Given the description of an element on the screen output the (x, y) to click on. 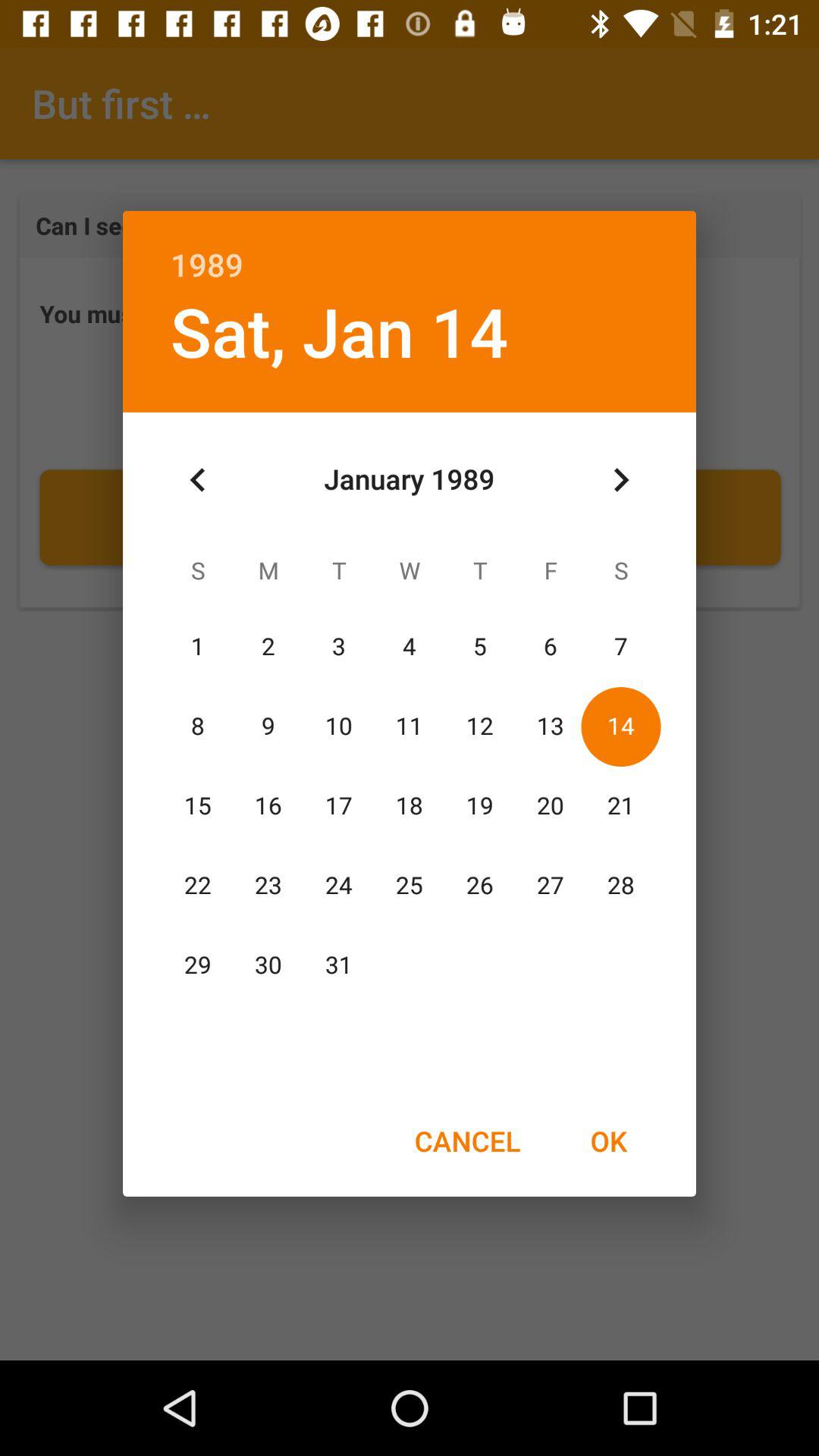
scroll to the sat, jan 14 item (339, 331)
